Given the description of an element on the screen output the (x, y) to click on. 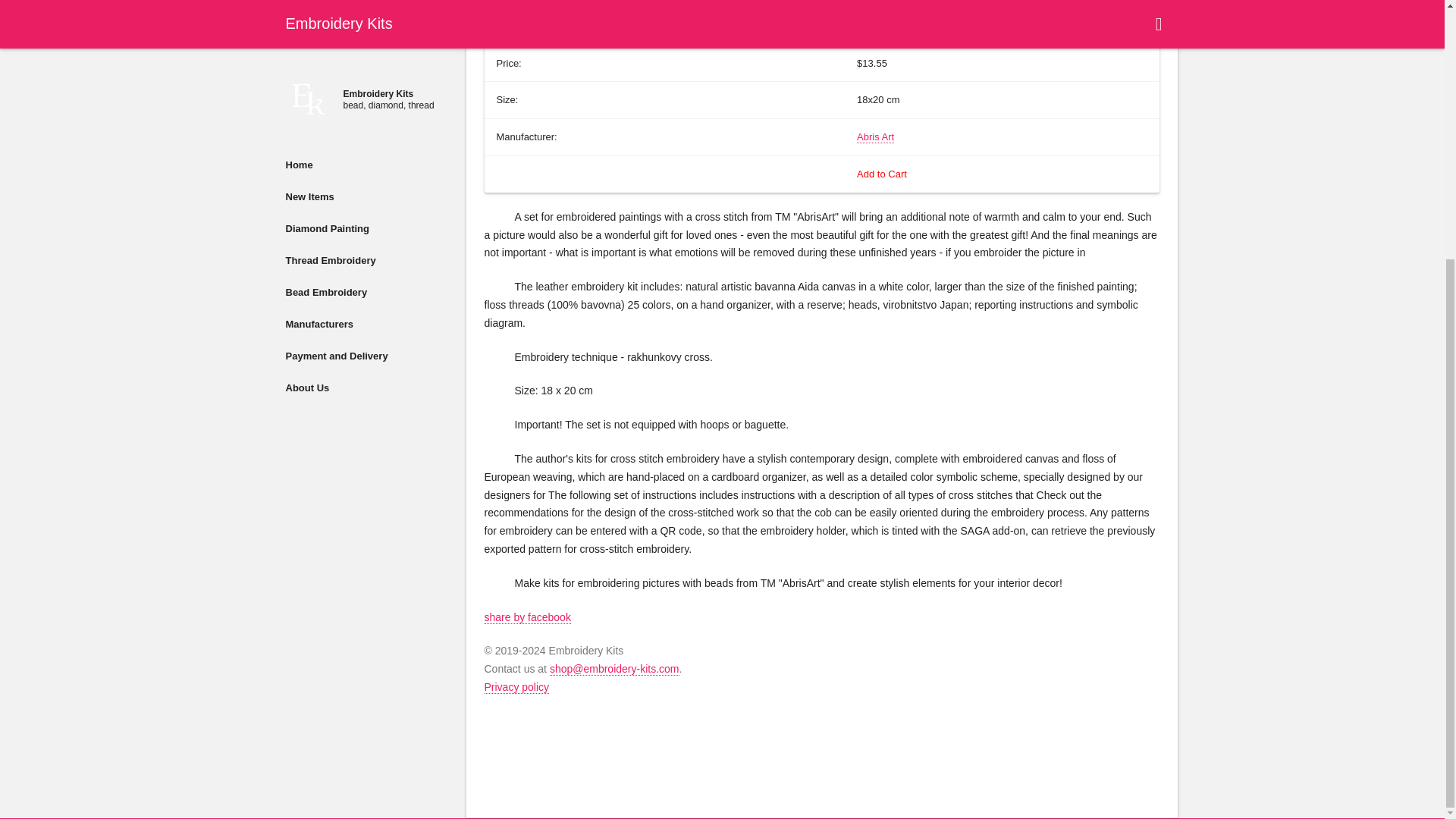
Abris Art (875, 137)
About Us (365, 16)
share by facebook (526, 617)
Privacy policy (515, 686)
